Given the description of an element on the screen output the (x, y) to click on. 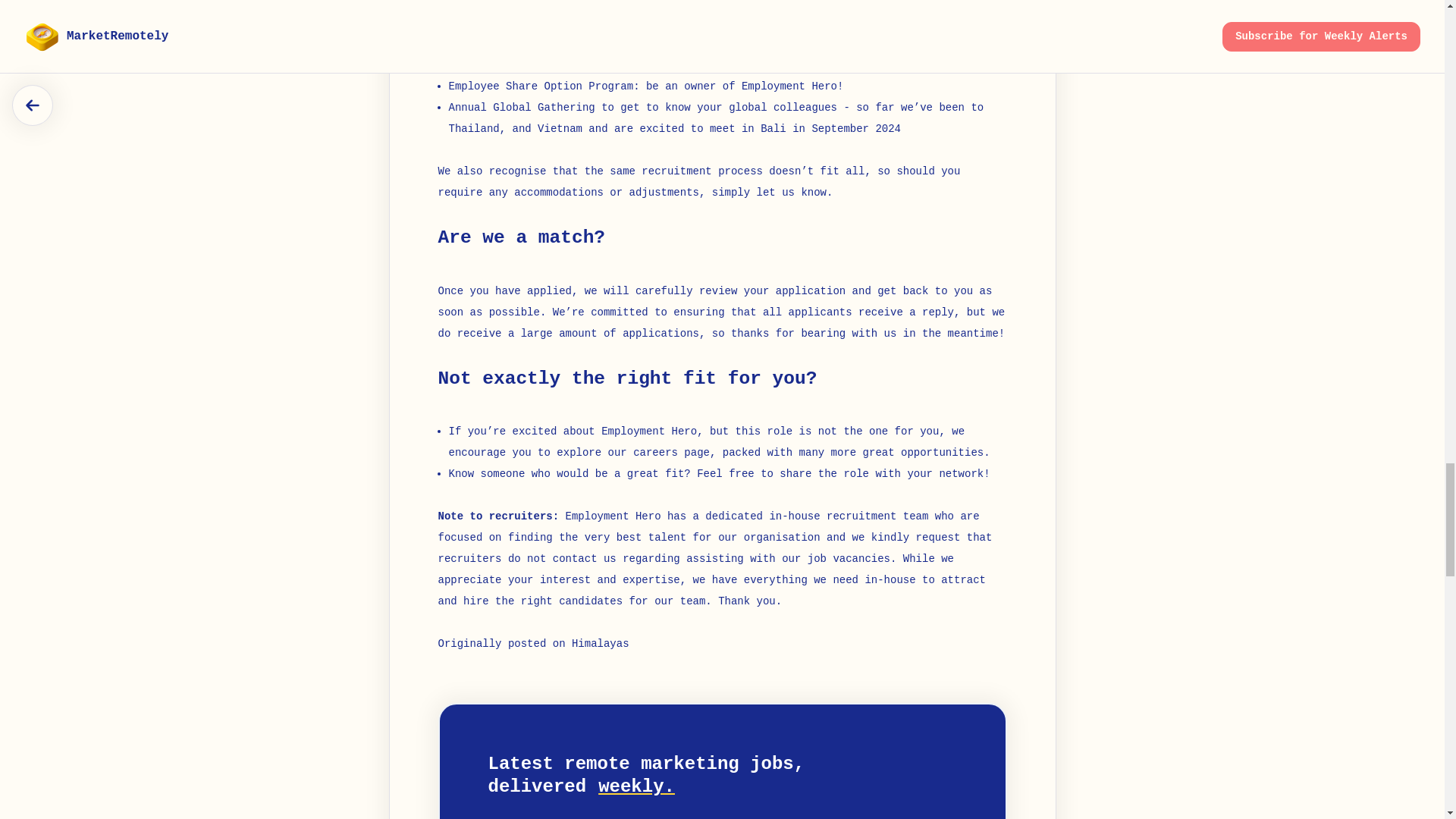
Himalayas (600, 644)
Employment Hero (649, 431)
Employment Hero (613, 516)
Employment Hero (789, 86)
